Given the description of an element on the screen output the (x, y) to click on. 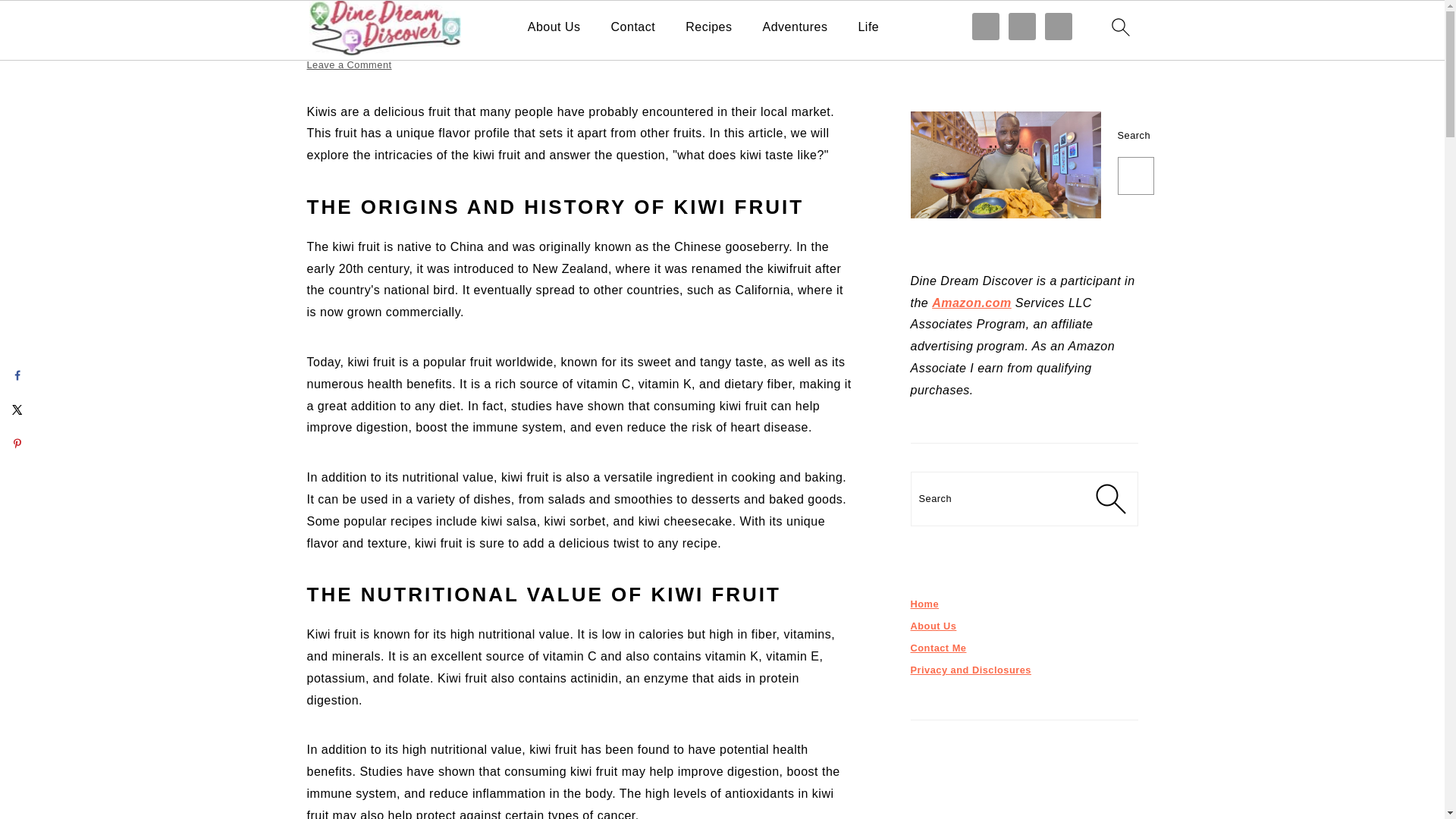
search icon (1119, 26)
Contact (633, 26)
Life (868, 26)
Recipes (708, 26)
Share on X (16, 409)
Adventures (795, 26)
Save to Pinterest (16, 442)
Share on Facebook (16, 374)
About Us (553, 26)
